Given the description of an element on the screen output the (x, y) to click on. 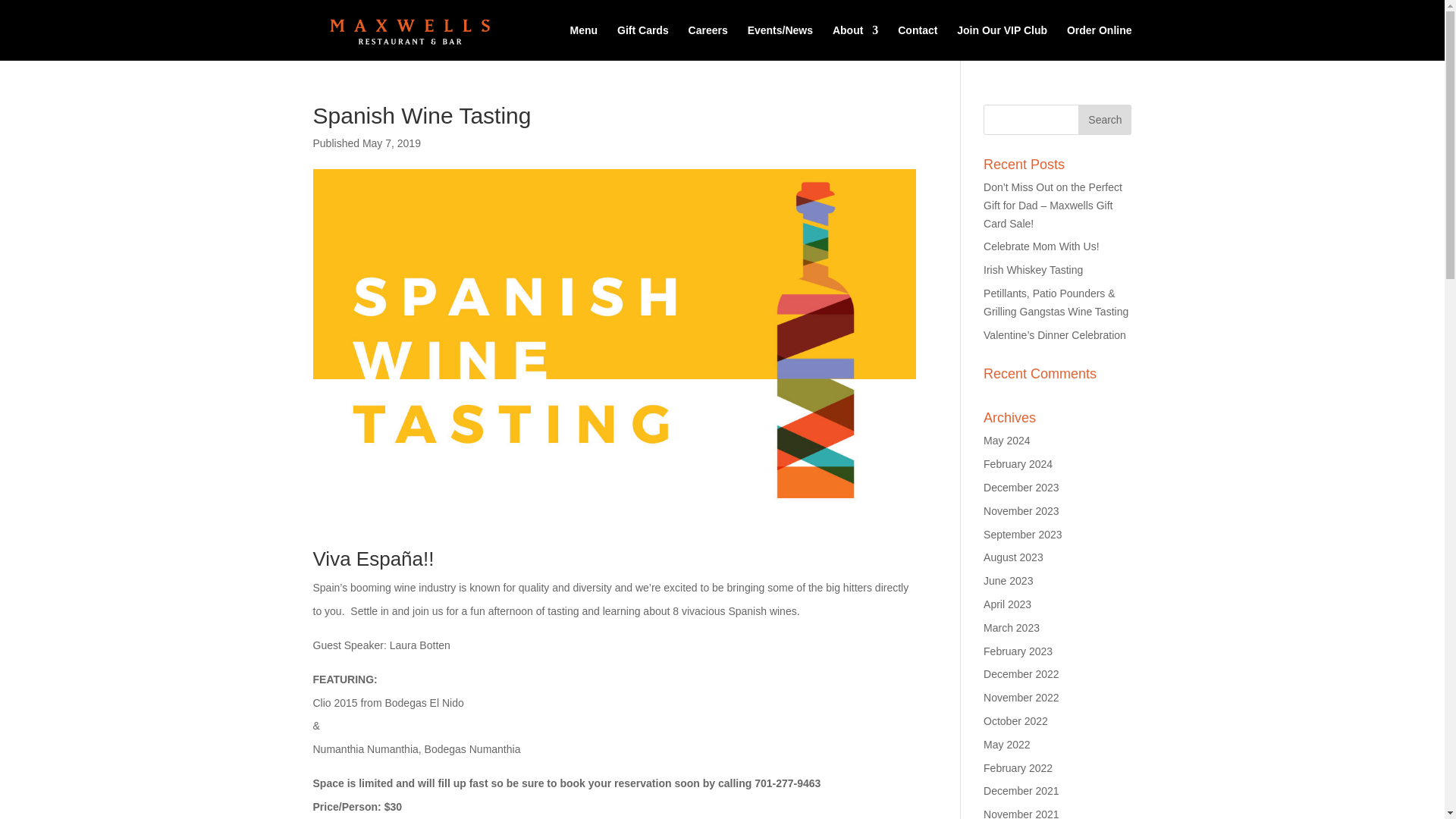
Careers (708, 42)
February 2022 (1018, 767)
Join Our VIP Club (1001, 42)
Irish Whiskey Tasting (1033, 269)
December 2023 (1021, 487)
March 2023 (1011, 627)
About (854, 42)
November 2022 (1021, 697)
November 2023 (1021, 510)
Search (1104, 119)
